Given the description of an element on the screen output the (x, y) to click on. 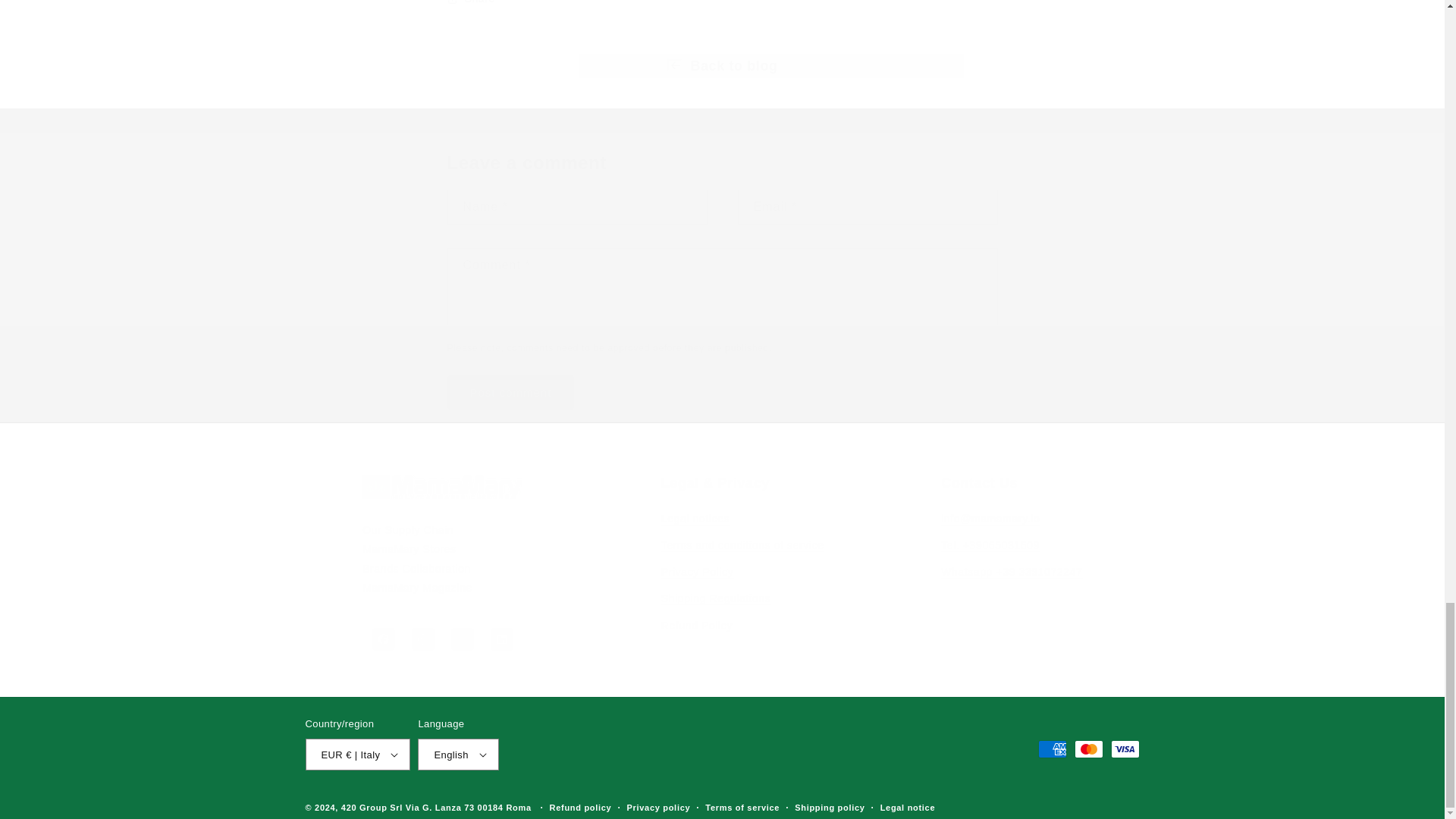
Share (721, 7)
Post comment (510, 392)
